Given the description of an element on the screen output the (x, y) to click on. 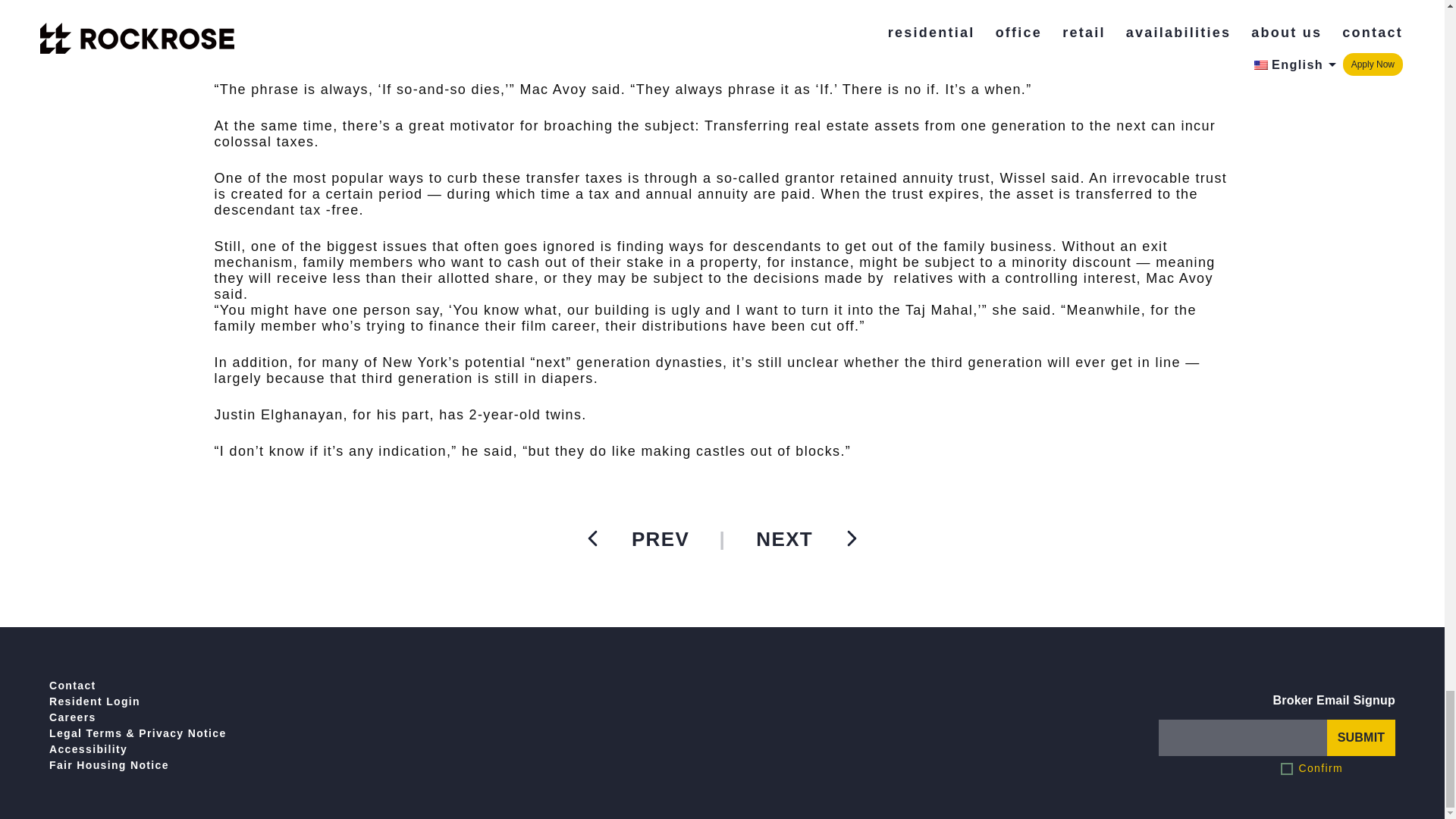
submit (1360, 737)
